Given the description of an element on the screen output the (x, y) to click on. 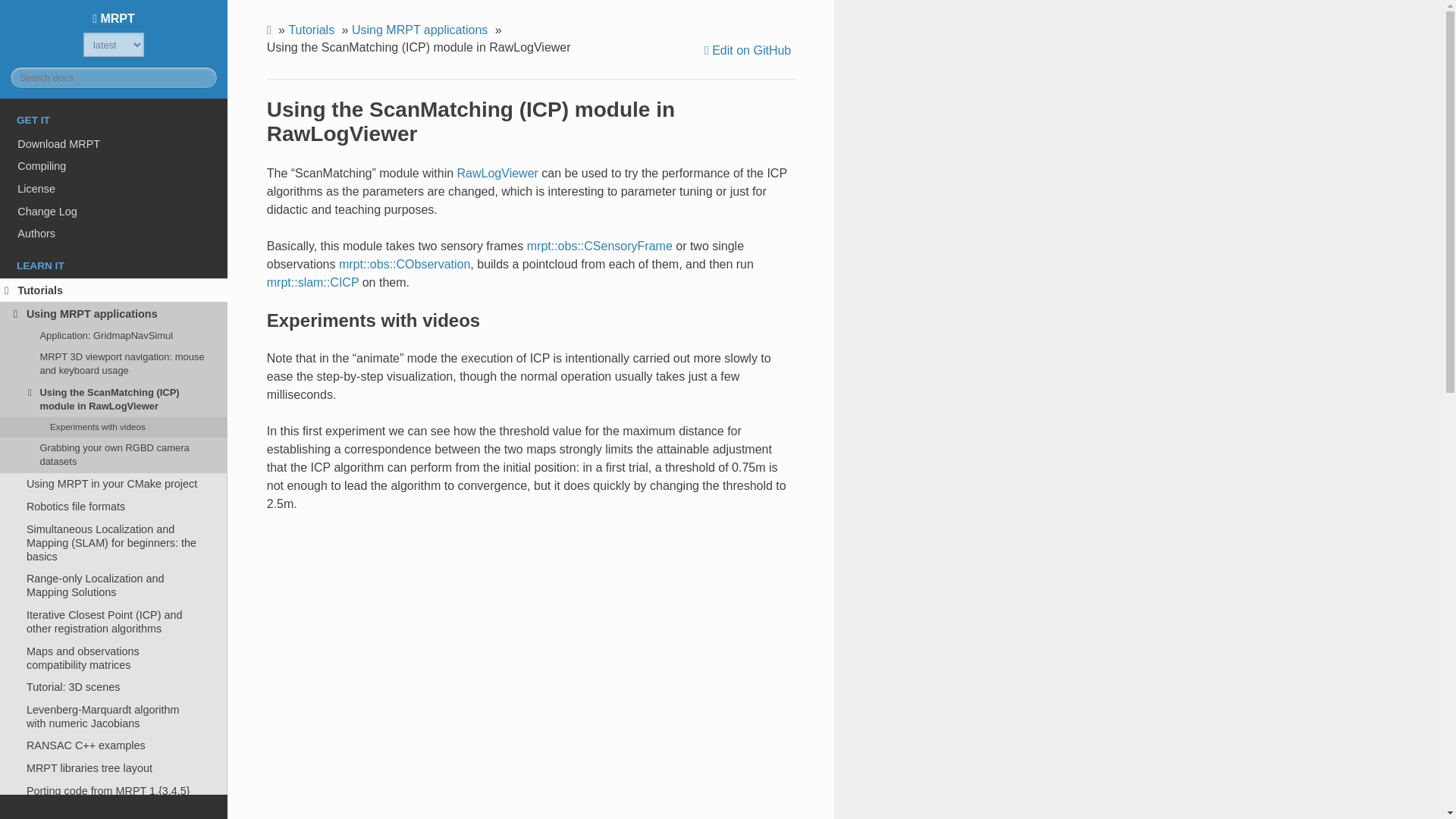
MRPT 3D viewport navigation: mouse and keyboard usage (113, 363)
Experiments with videos (113, 426)
MRPT libraries tree layout (113, 767)
Grabbing your own RGBD camera datasets (113, 454)
Tutorial: 3D scenes (113, 686)
MRPT (113, 18)
Compiling (113, 166)
License (113, 188)
Range-only Localization and Mapping Solutions (113, 586)
Maps and observations compatibility matrices (113, 657)
Application: GridmapNavSimul (113, 334)
Download MRPT (113, 143)
Authors (113, 233)
Tutorials (113, 290)
Levenberg-Marquardt algorithm with numeric Jacobians (113, 716)
